Given the description of an element on the screen output the (x, y) to click on. 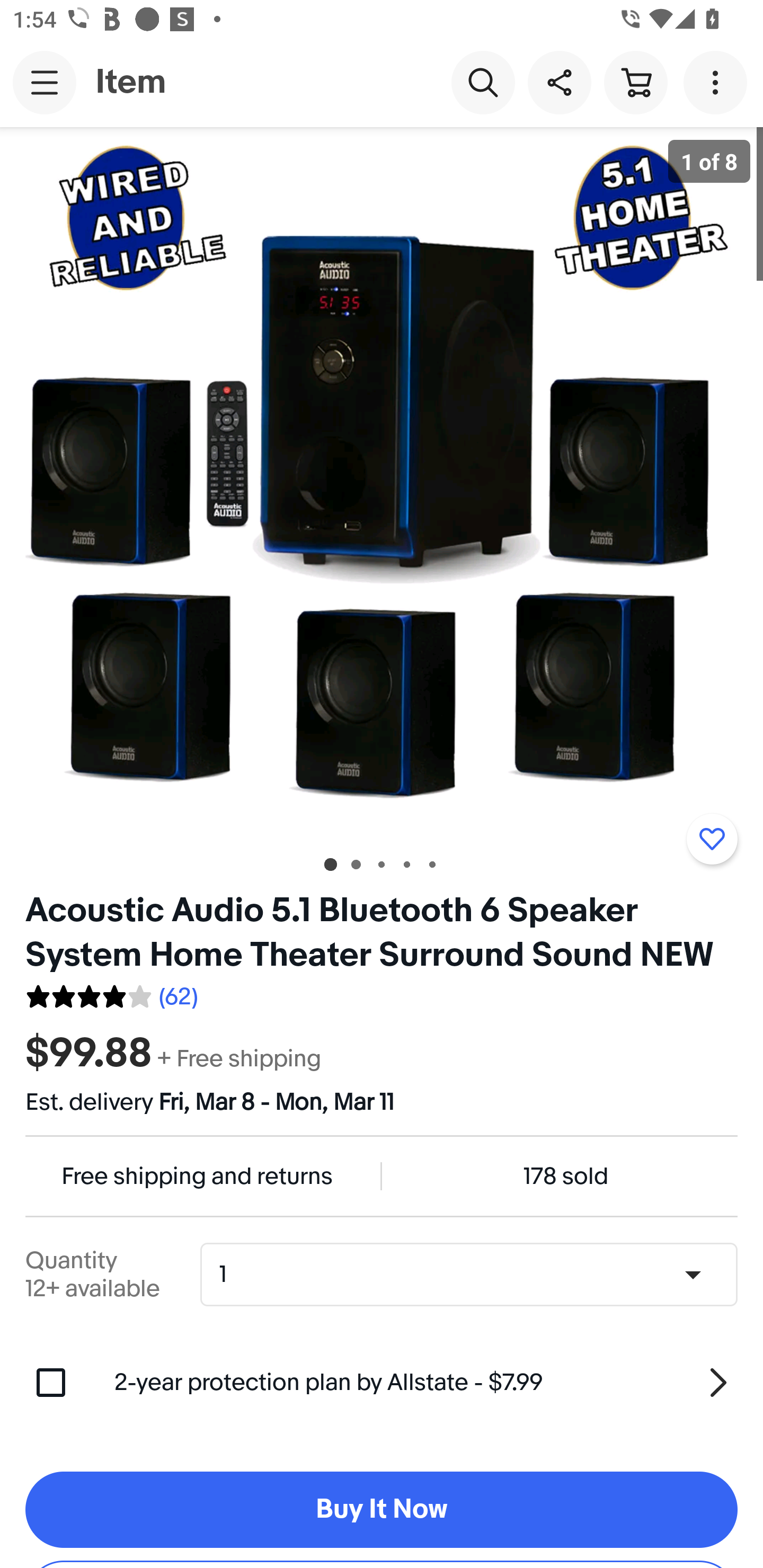
Main navigation, open (44, 82)
Search (482, 81)
Share this item (559, 81)
Cart button shopping cart (635, 81)
More options (718, 81)
Item image 1 of 8 (381, 482)
Add to watchlist (711, 838)
Quantity,1,12+ available 1 (474, 1274)
2-year protection plan by Allstate - $7.99 (425, 1382)
Buy It Now (381, 1509)
